Given the description of an element on the screen output the (x, y) to click on. 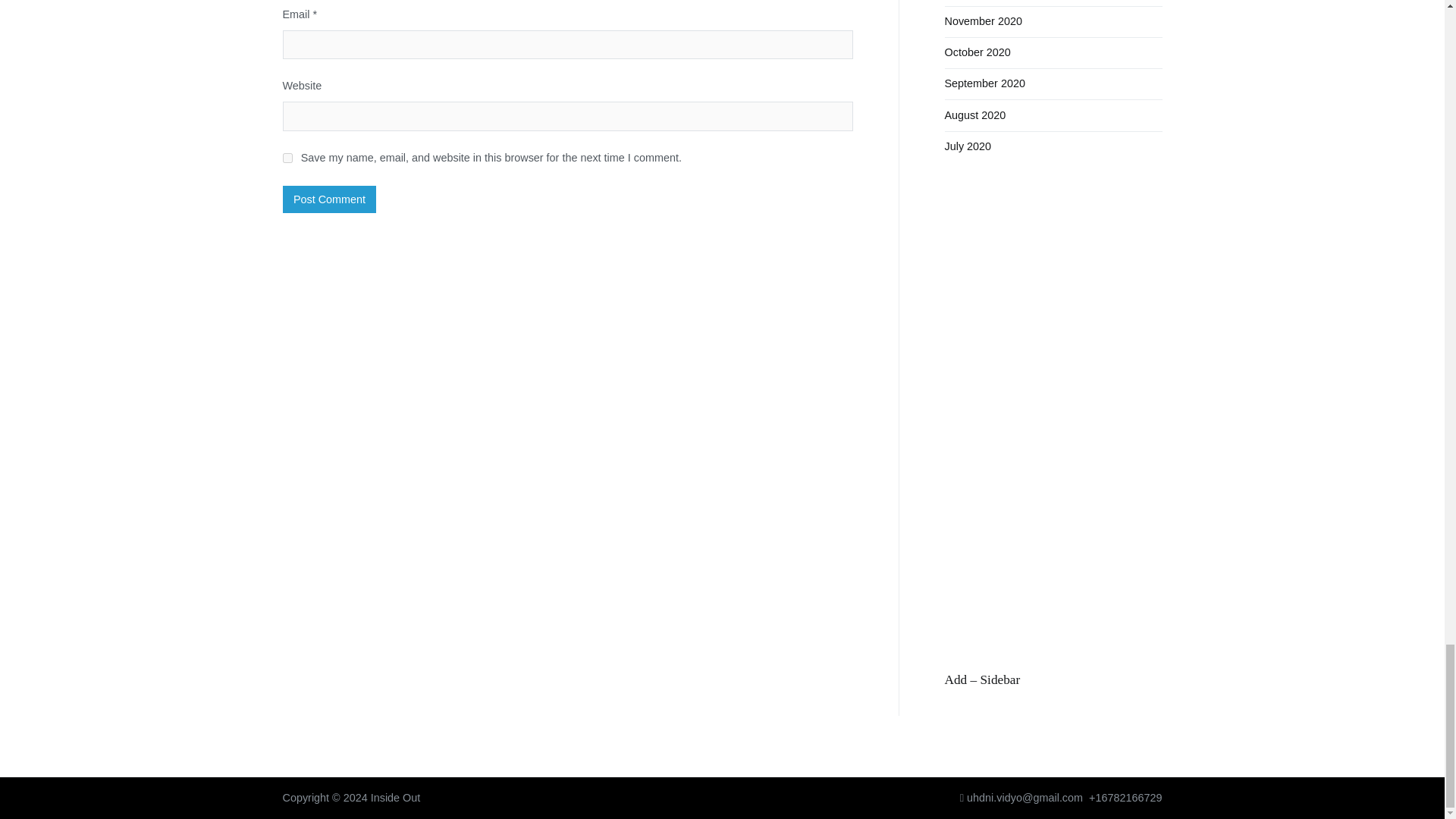
Post Comment (328, 198)
yes (287, 157)
Post Comment (328, 198)
Inside Out (395, 797)
